Given the description of an element on the screen output the (x, y) to click on. 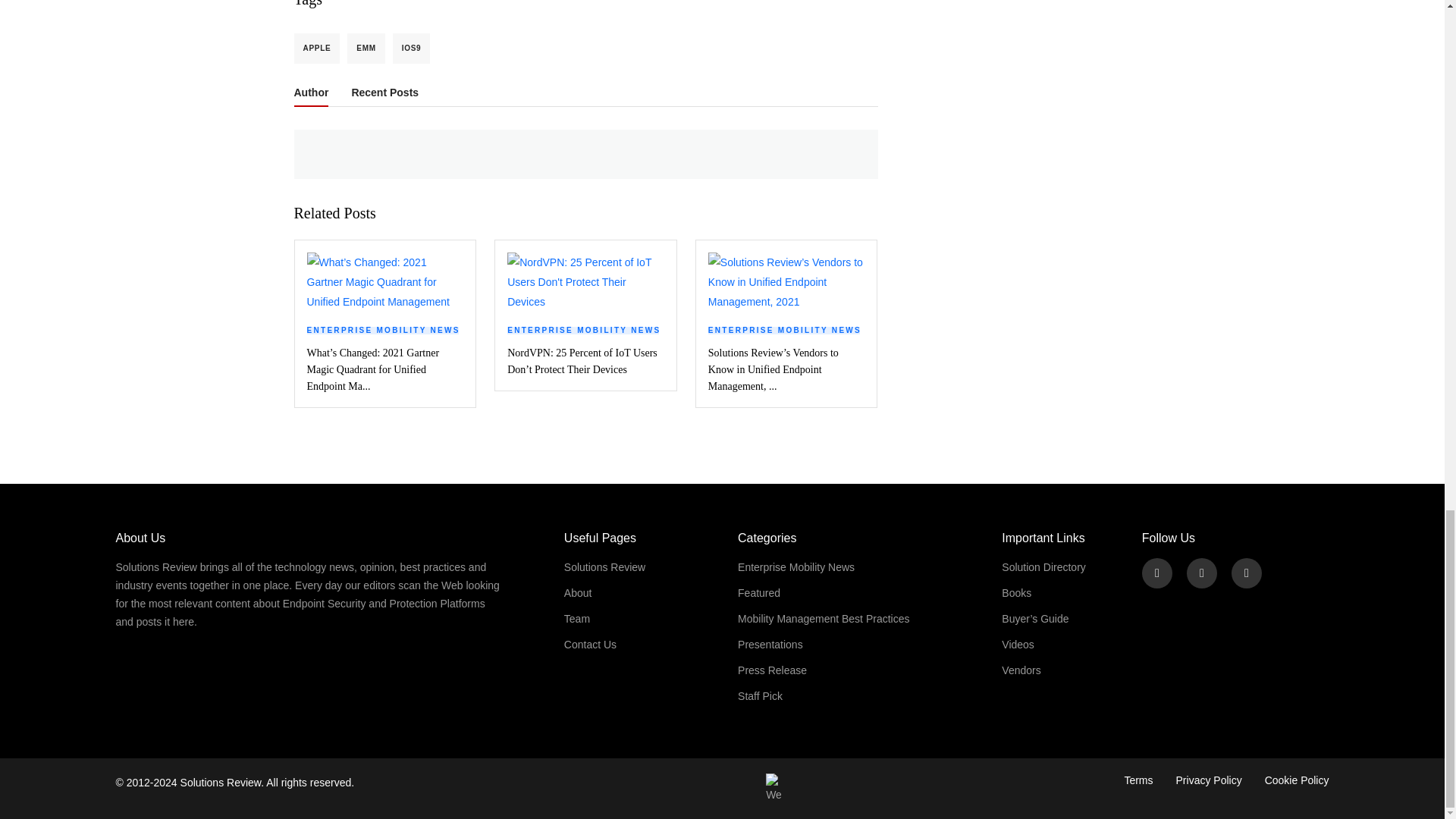
APPLE (317, 47)
IOS9 (411, 47)
Recent Posts (384, 94)
Author (311, 95)
EMM (365, 47)
